Given the description of an element on the screen output the (x, y) to click on. 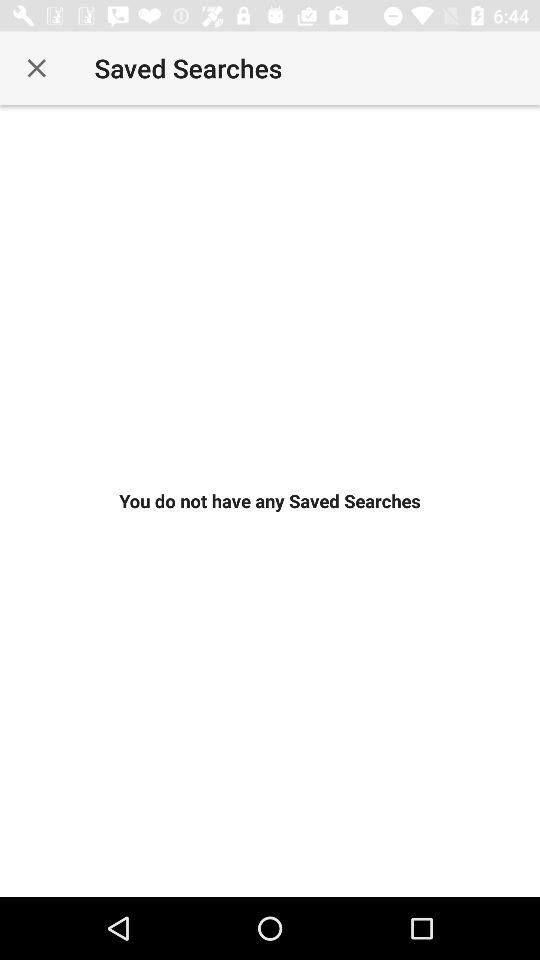
press icon next to saved searches item (36, 68)
